Given the description of an element on the screen output the (x, y) to click on. 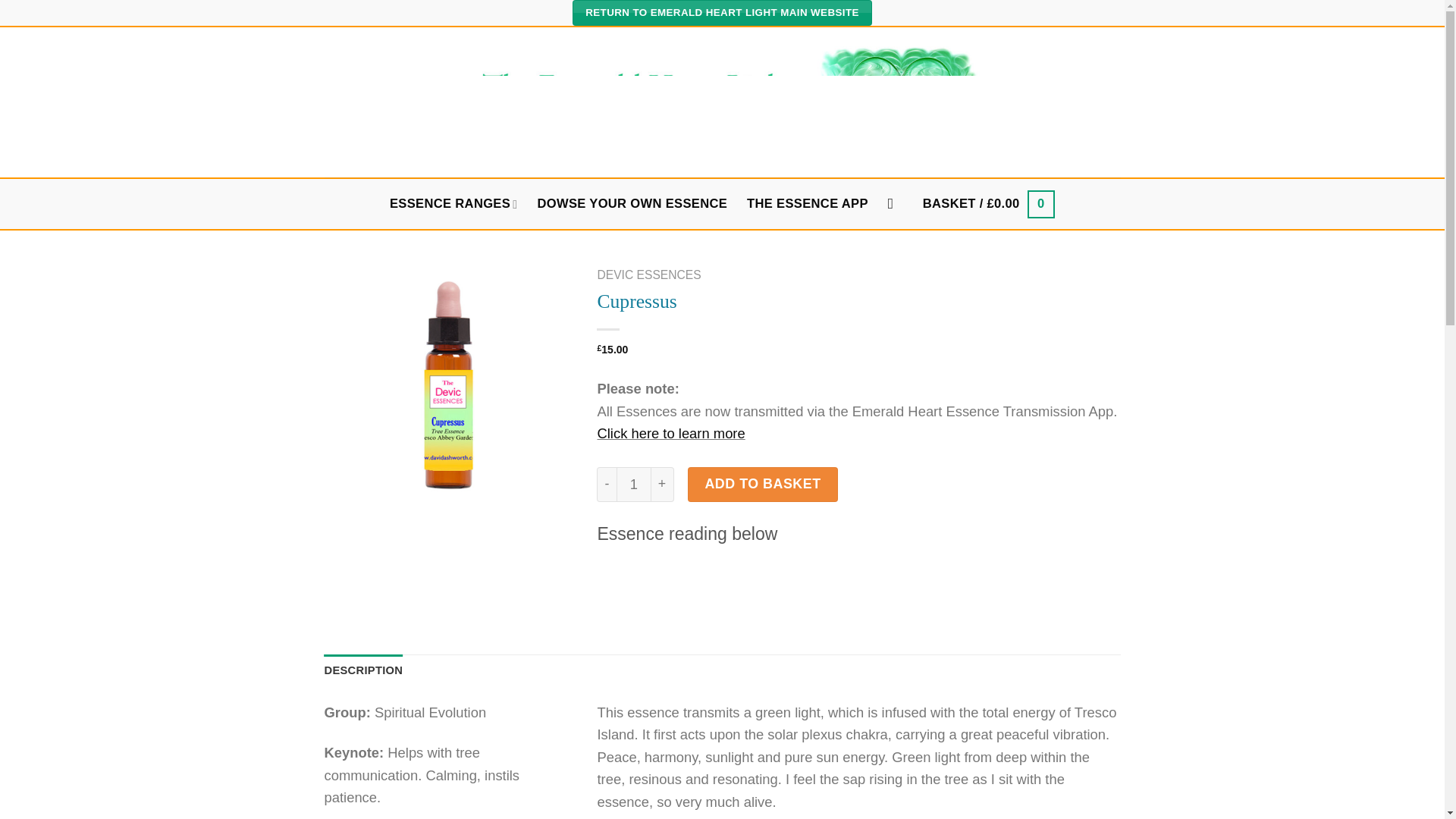
ESSENCE RANGES (453, 204)
DEVIC ESSENCES (648, 274)
RETURN TO EMERALD HEART LIGHT MAIN WEBSITE (722, 12)
DESCRIPTION (363, 670)
Click here to learn more (670, 433)
ADD TO BASKET (762, 484)
THE ESSENCE APP (806, 203)
Basket (988, 204)
DOWSE YOUR OWN ESSENCE (631, 203)
1 (632, 484)
